Given the description of an element on the screen output the (x, y) to click on. 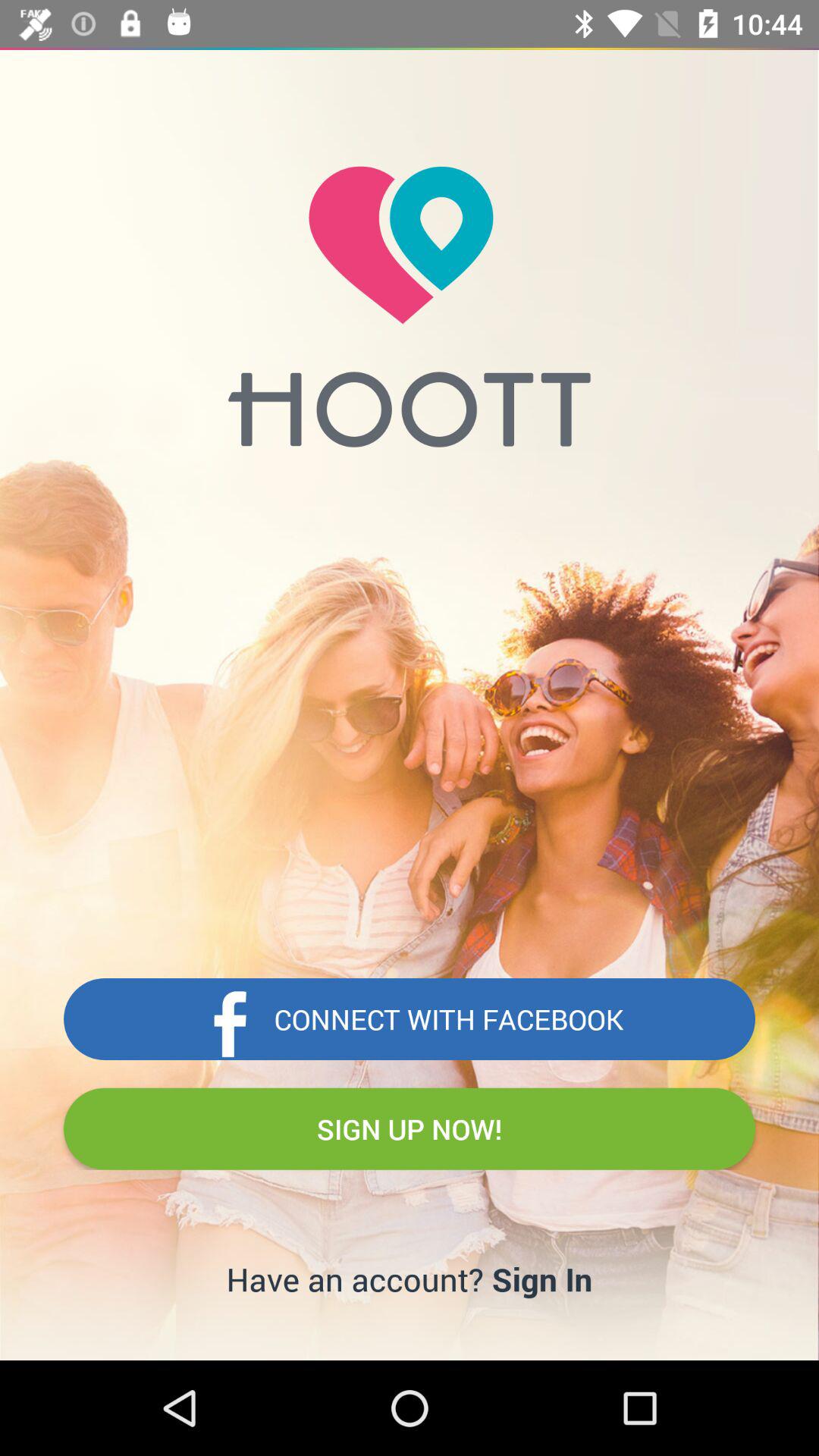
turn off icon above have an account? (409, 1128)
